Given the description of an element on the screen output the (x, y) to click on. 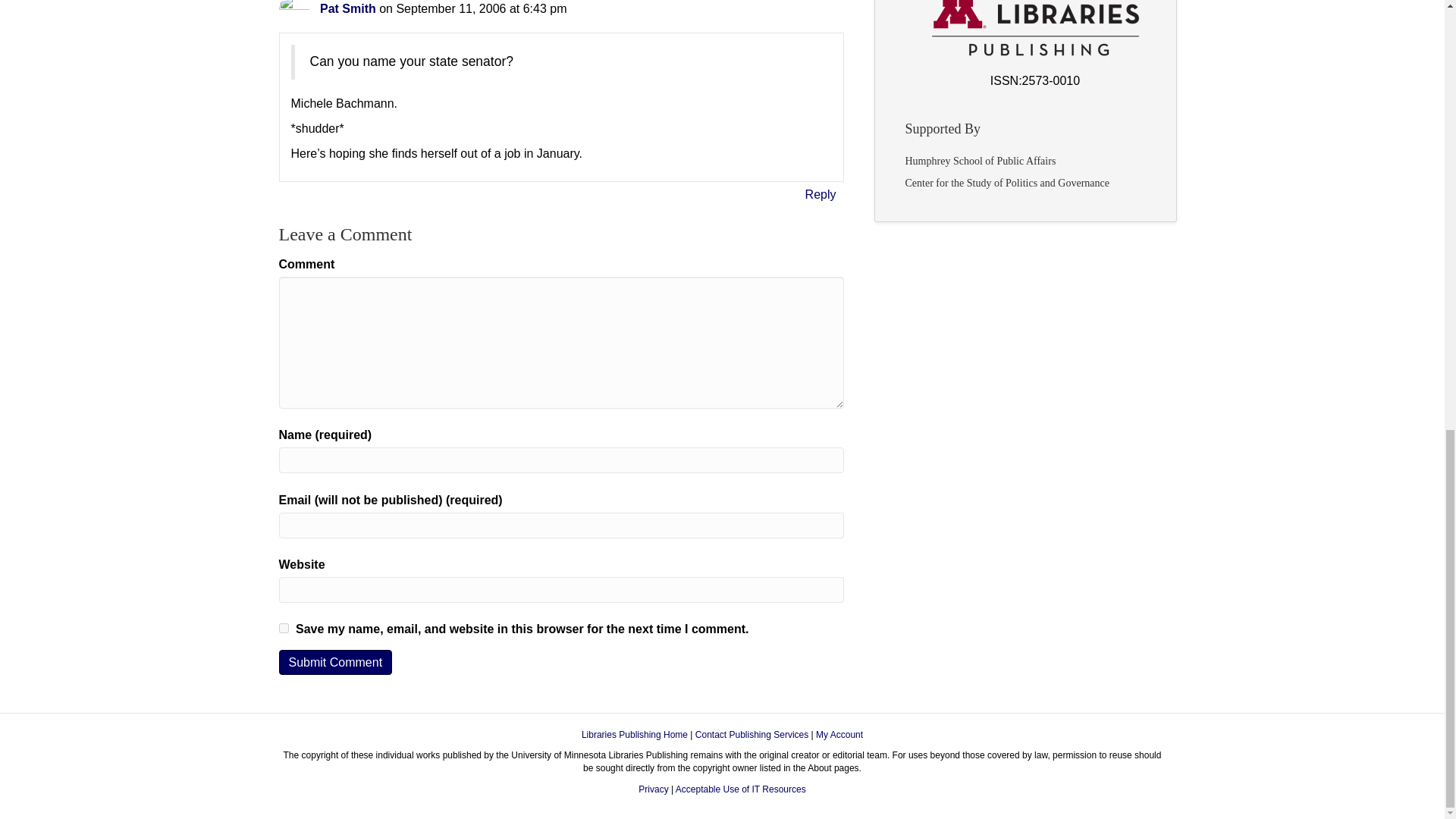
yes (283, 628)
Submit Comment (336, 662)
